Given the description of an element on the screen output the (x, y) to click on. 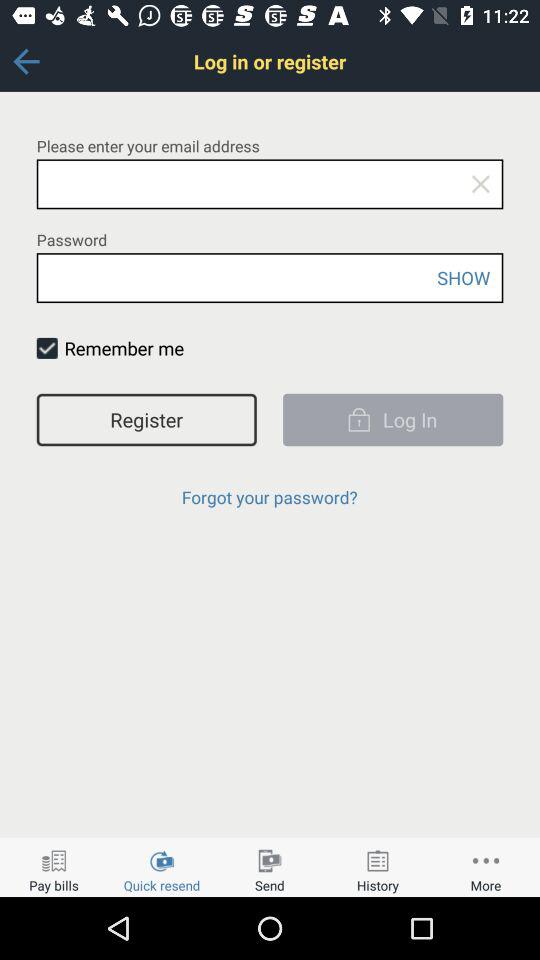
flip to the forgot your password? icon (269, 496)
